Given the description of an element on the screen output the (x, y) to click on. 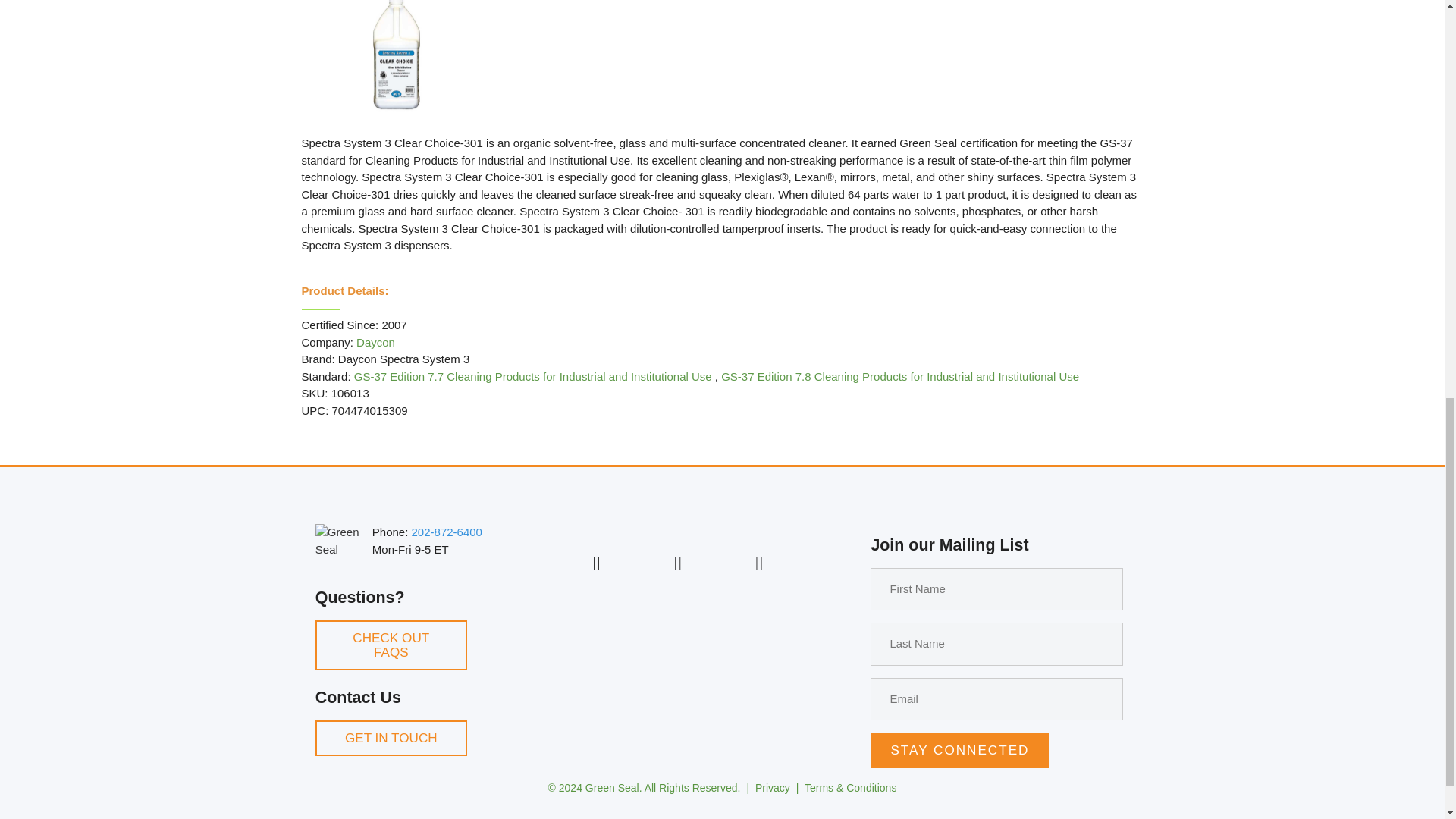
Stay Connected (959, 750)
